Given the description of an element on the screen output the (x, y) to click on. 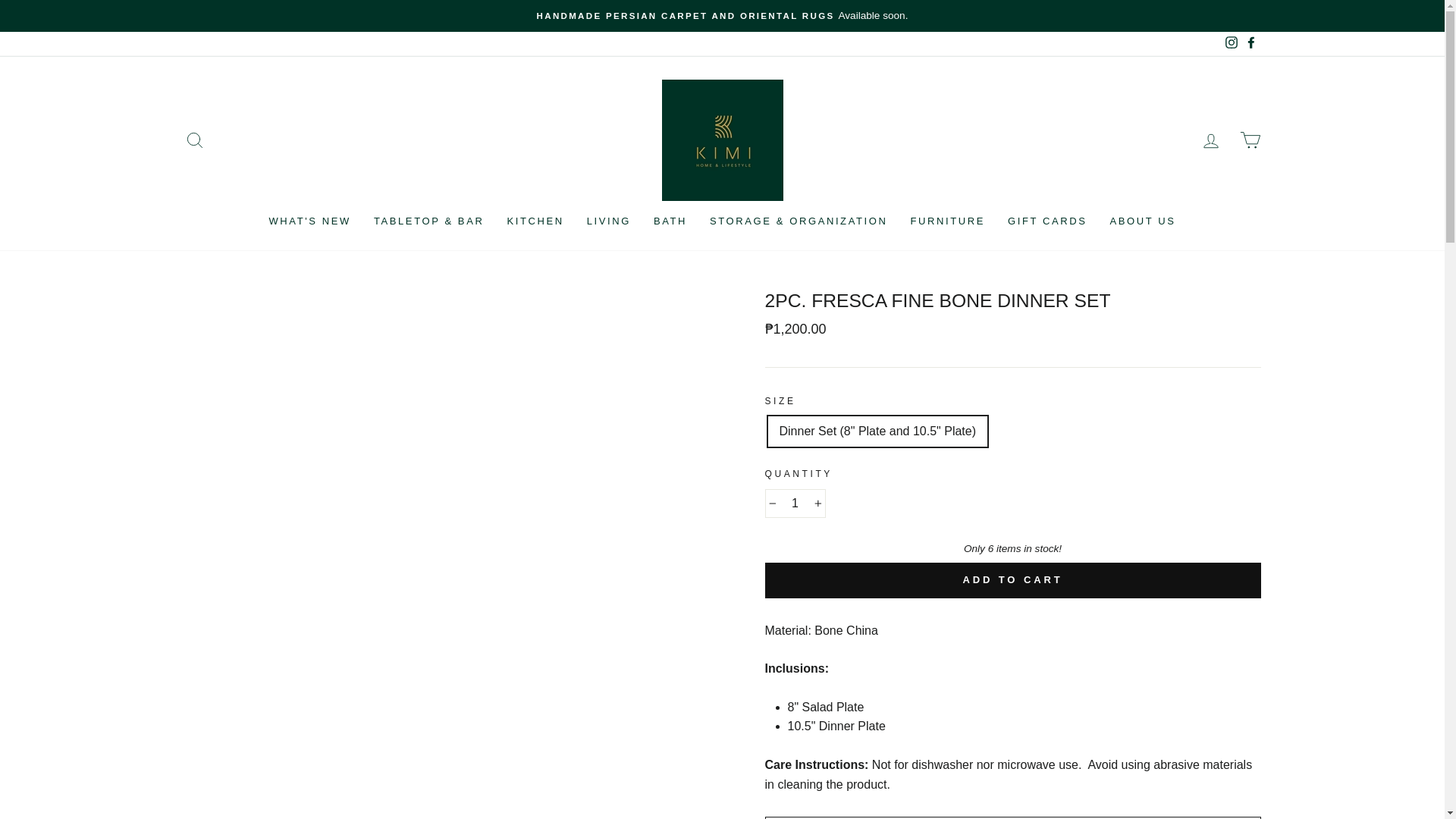
CART (1249, 139)
SEARCH (194, 139)
LOG IN (1210, 139)
WHAT'S NEW (309, 221)
1 (794, 502)
